Given the description of an element on the screen output the (x, y) to click on. 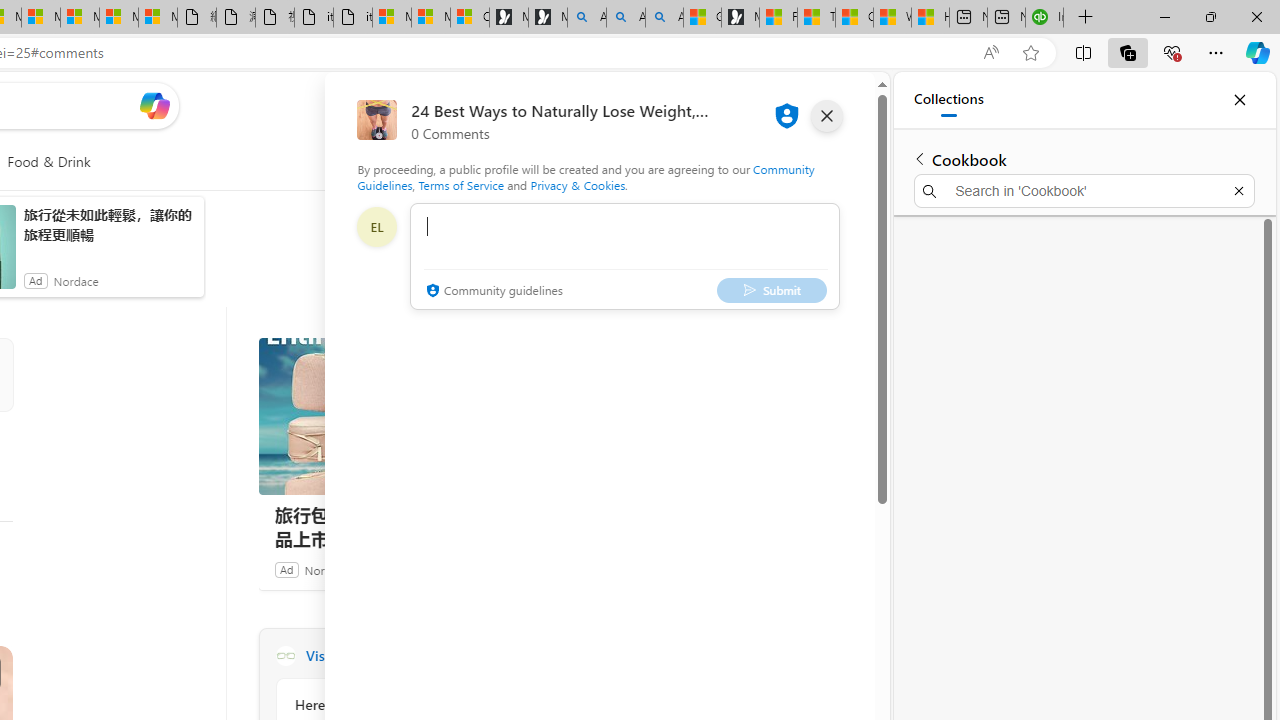
Alabama high school quarterback dies - Search Videos (664, 17)
Alabama high school quarterback dies - Search (586, 17)
How to Use a TV as a Computer Monitor (929, 17)
itconcepthk.com/projector_solutions.mp4 (353, 17)
Profile Picture (376, 226)
